Given the description of an element on the screen output the (x, y) to click on. 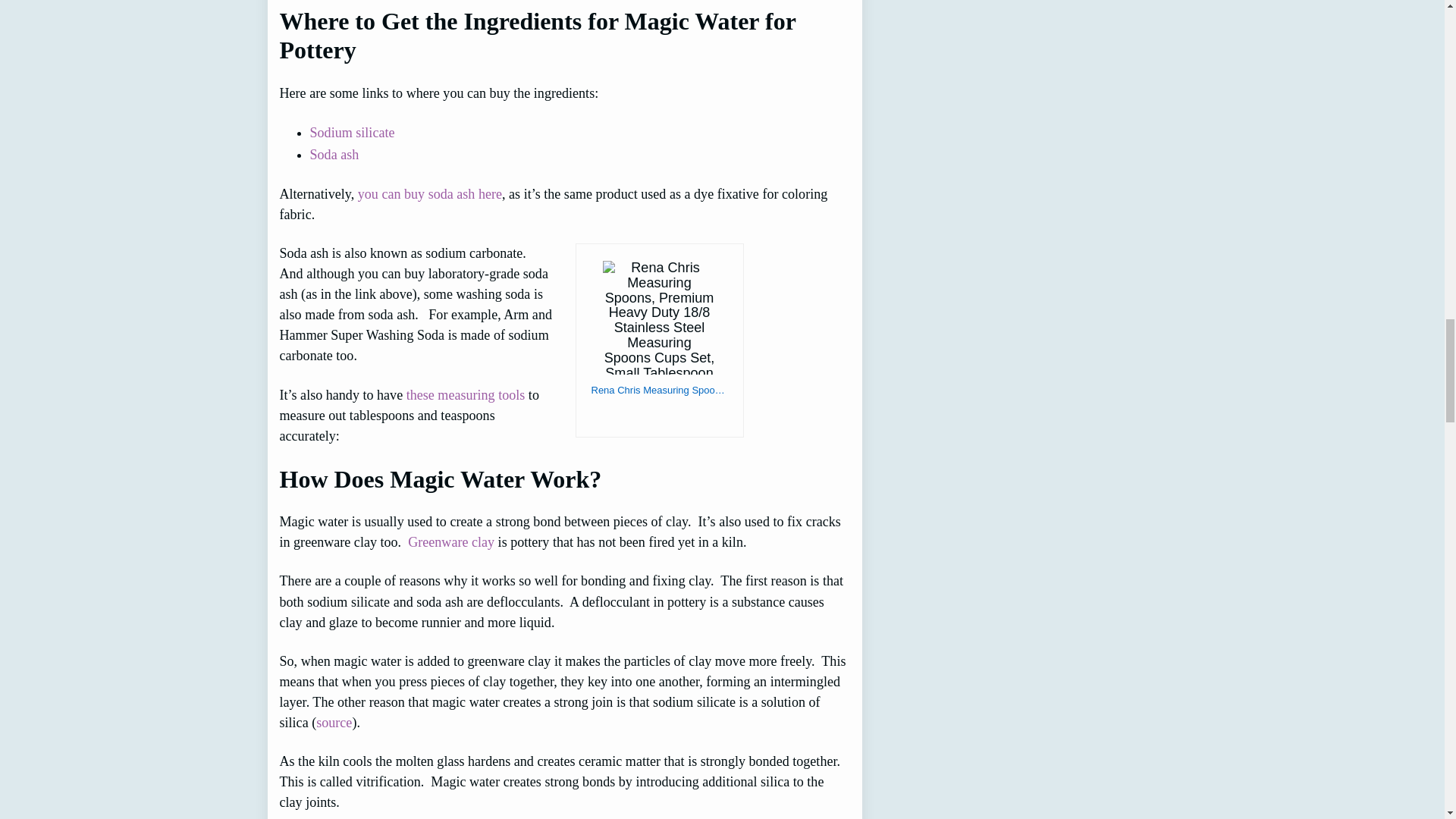
you can buy soda ash here (430, 193)
Sodium silicate (351, 132)
Greenware clay (451, 541)
Soda ash (333, 154)
these measuring tools (465, 394)
